Given the description of an element on the screen output the (x, y) to click on. 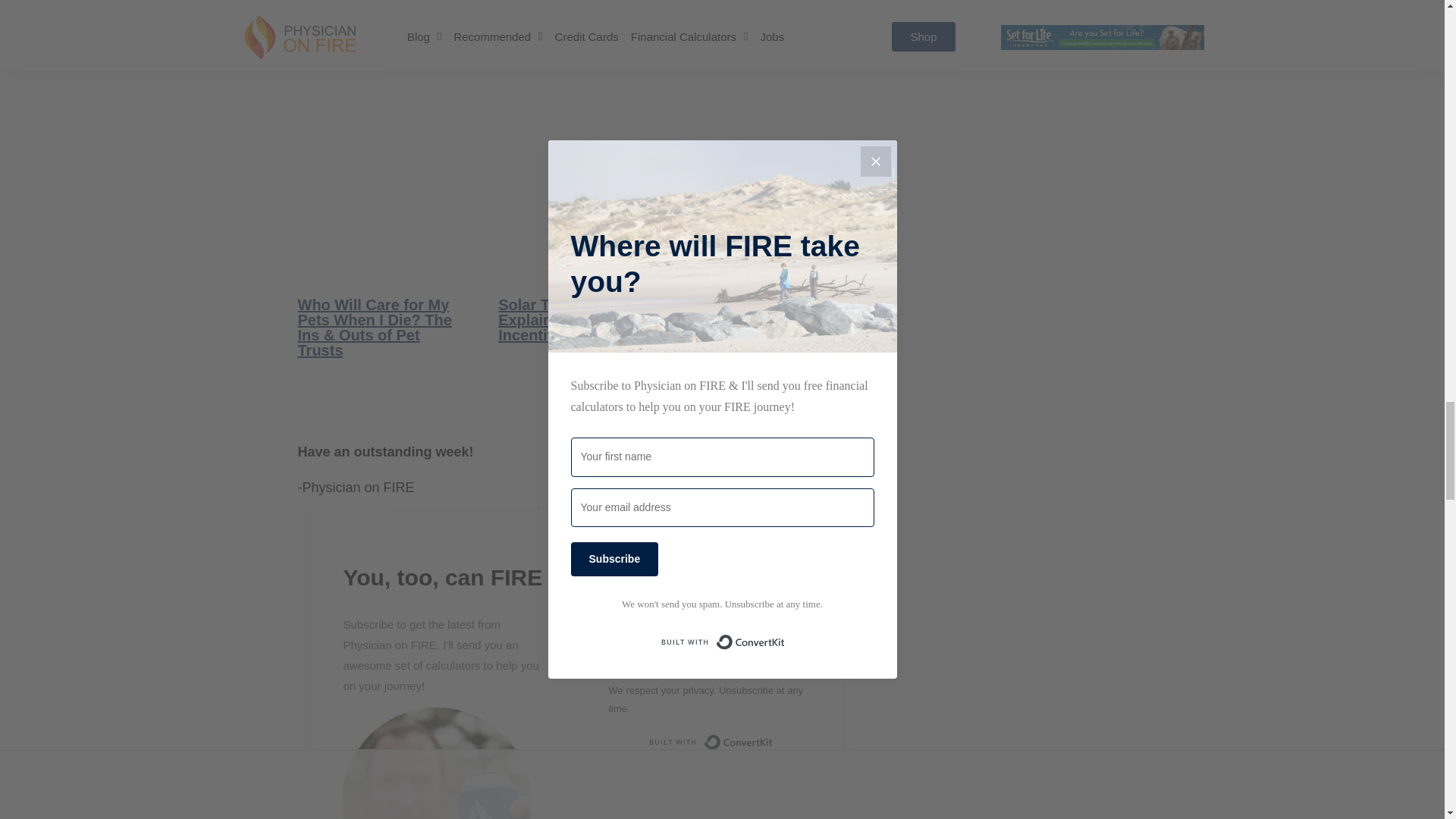
7 Ways For High Income Families To Pay For College (778, 270)
